Given the description of an element on the screen output the (x, y) to click on. 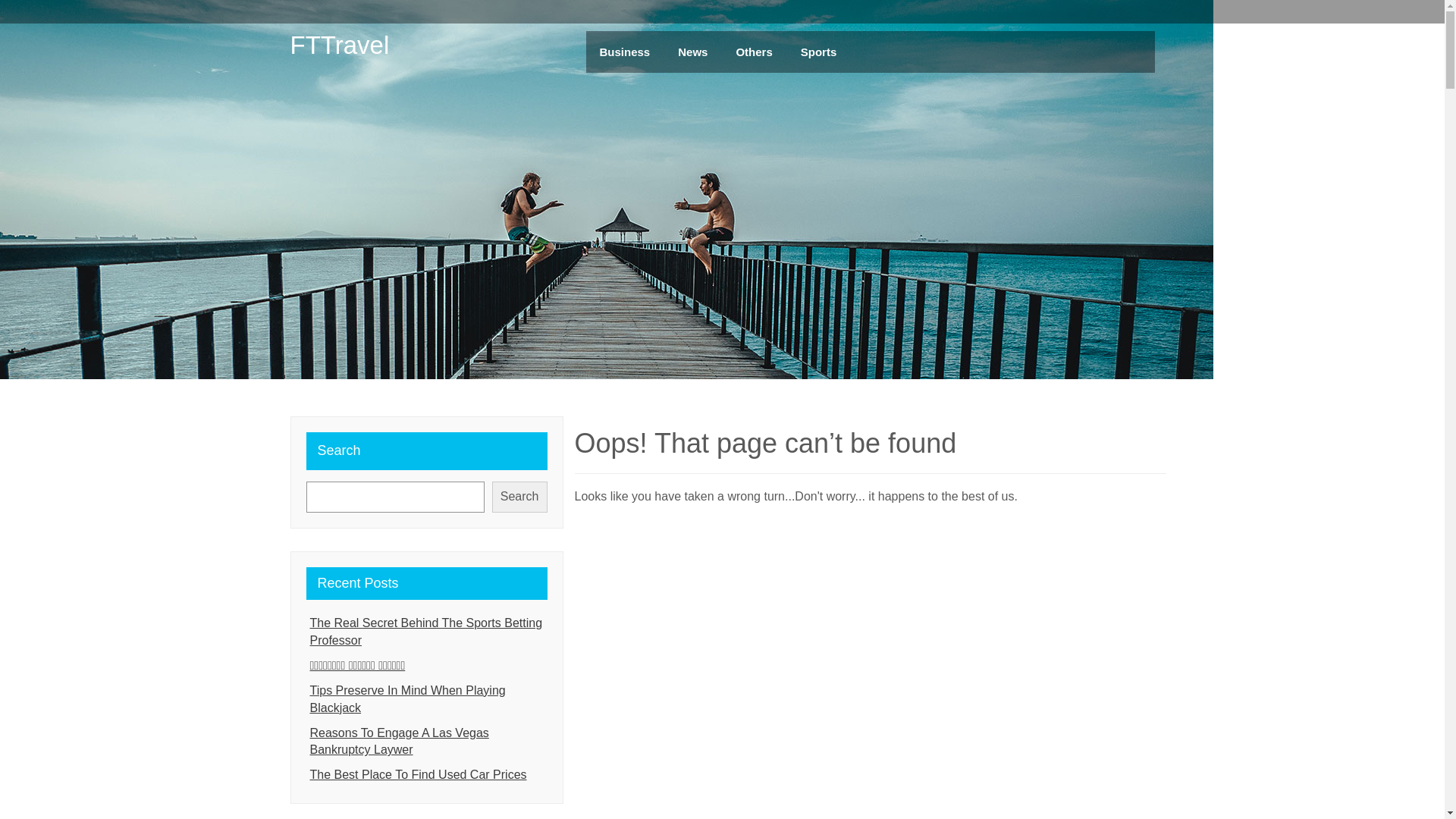
Sports Element type: text (818, 51)
Tips Preserve In Mind When Playing Blackjack Element type: text (426, 699)
News Element type: text (692, 51)
Reasons To Engage A Las Vegas Bankruptcy Laywer Element type: text (426, 742)
The Real Secret Behind The Sports Betting Professor Element type: text (426, 632)
Others Element type: text (753, 51)
Business Element type: text (625, 51)
The Best Place To Find Used Car Prices Element type: text (426, 774)
FTTravel Element type: text (339, 45)
Search Element type: text (519, 496)
